Given the description of an element on the screen output the (x, y) to click on. 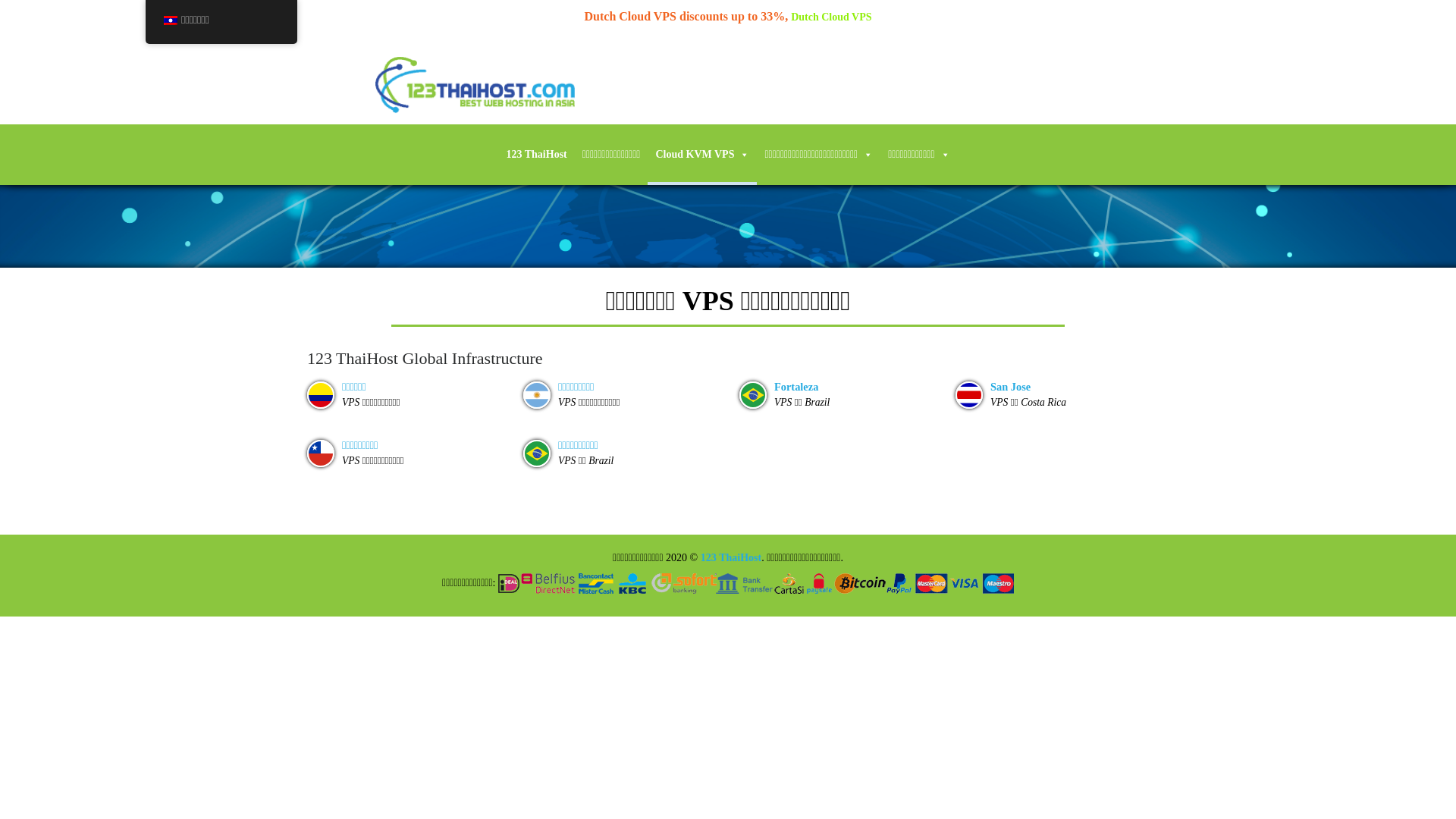
123 ThaiHost Element type: text (536, 154)
Dutch Cloud VPS Element type: text (830, 16)
Cloud KVM VPS Element type: text (701, 154)
123 ThaiHost Element type: text (731, 557)
